Given the description of an element on the screen output the (x, y) to click on. 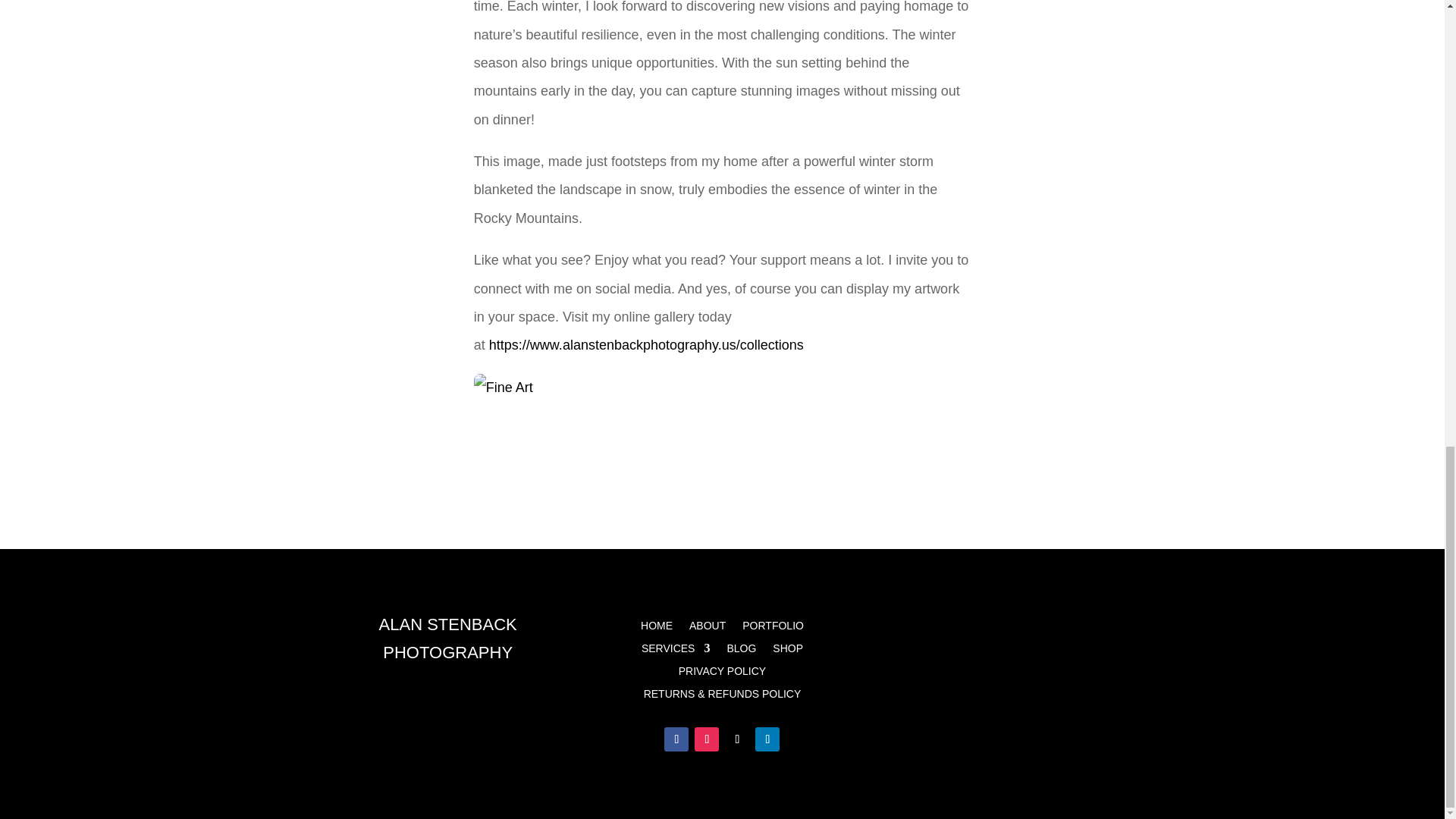
Follow on Instagram (706, 739)
Follow on Facebook (675, 739)
Follow on LinkedIn (766, 739)
SERVICES (676, 651)
Follow on X (737, 739)
HOME (656, 628)
Google Map (1002, 648)
PORTFOLIO (772, 628)
ABOUT (706, 628)
PRIVACY POLICY (721, 673)
